Given the description of an element on the screen output the (x, y) to click on. 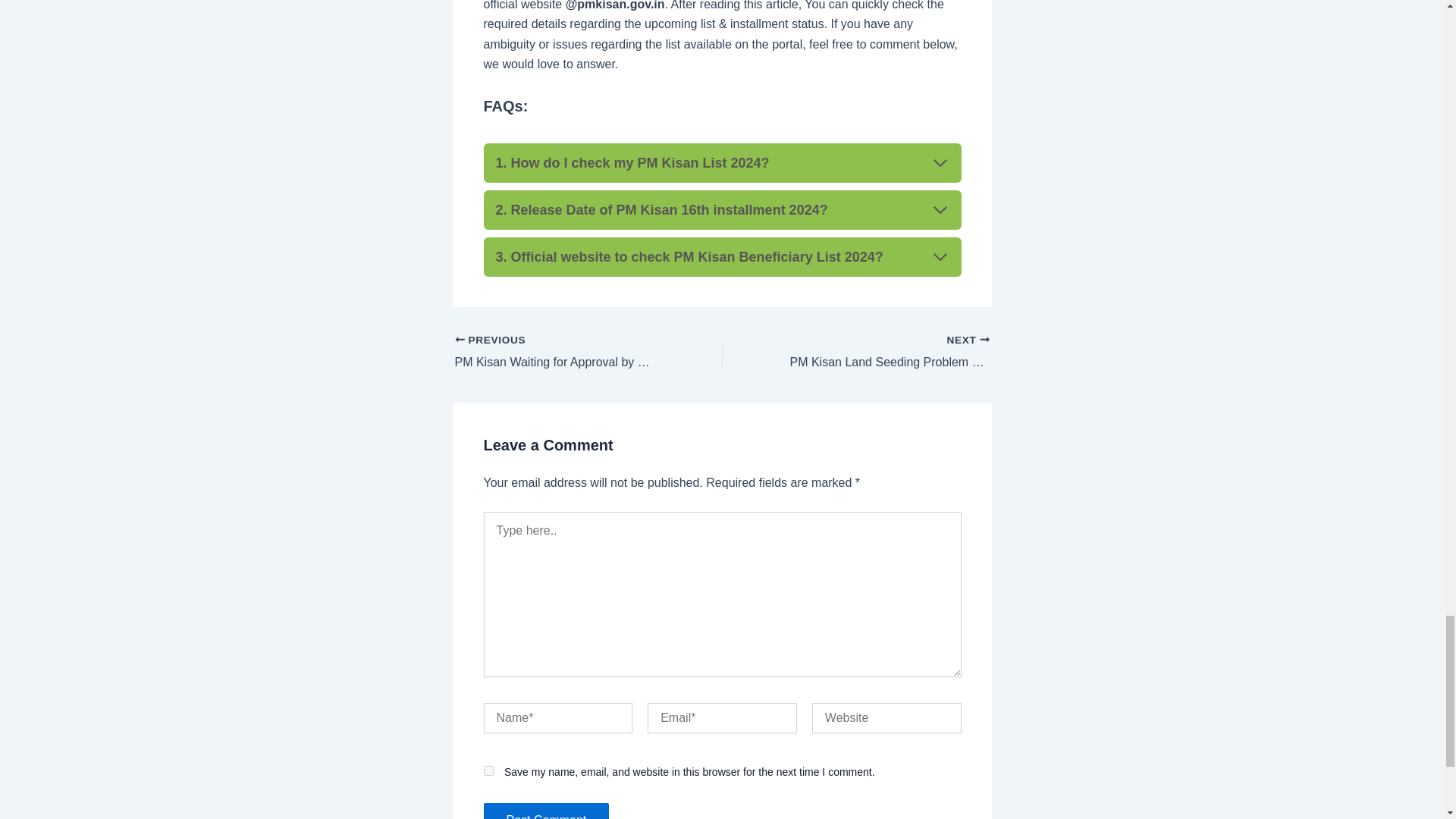
yes (488, 770)
PM Kisan Waiting for Approval by State (561, 352)
PM Kisan Land Seeding Problem Complete Solution (561, 352)
2. Release Date of PM Kisan 16th installment 2024? (882, 352)
Post Comment (721, 210)
3. Official website to check PM Kisan Beneficiary List 2024? (882, 352)
Post Comment (546, 811)
1. How do I check my PM Kisan List 2024? (721, 256)
